Given the description of an element on the screen output the (x, y) to click on. 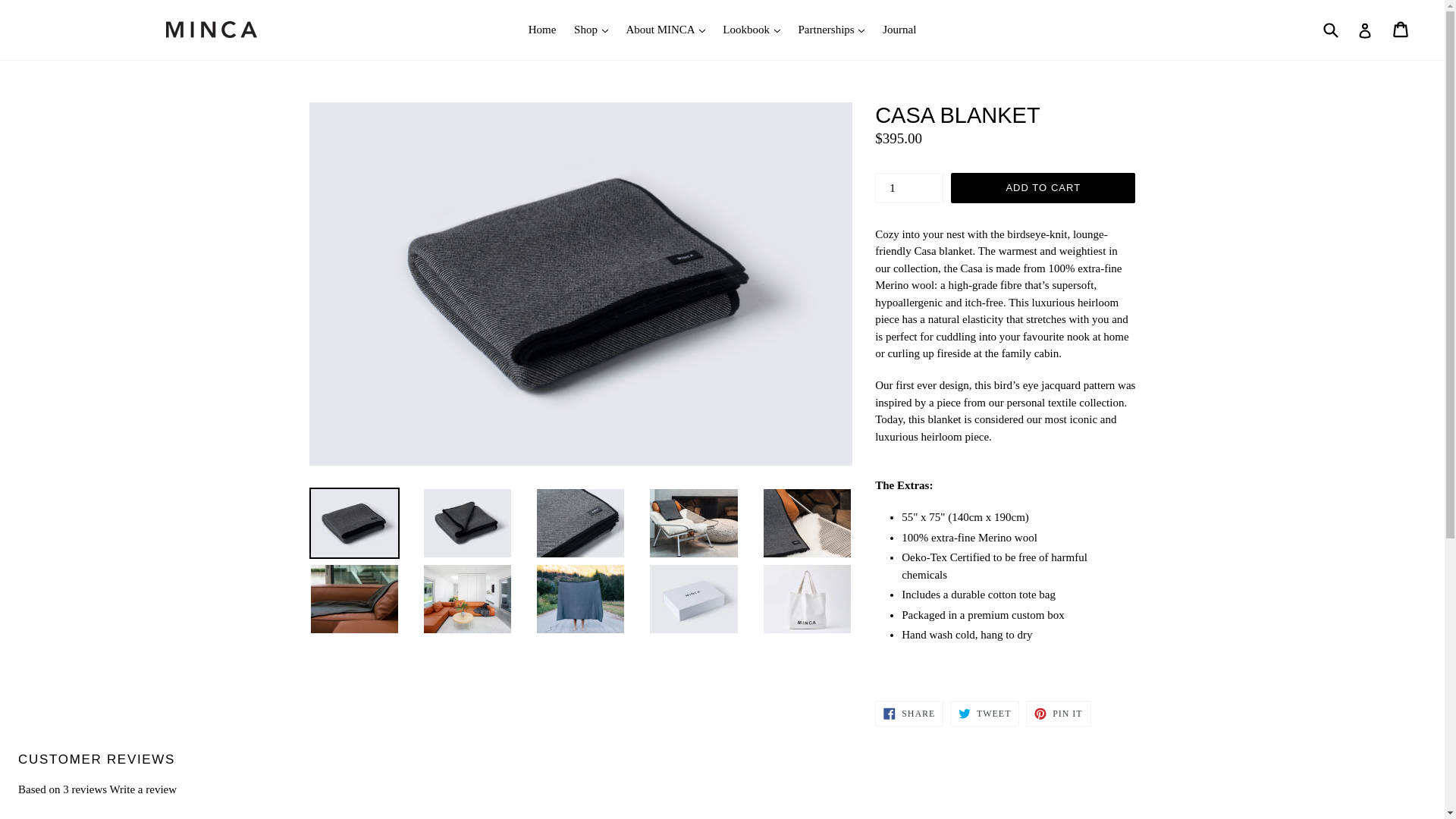
Page 4 (1005, 351)
Pin on Pinterest (1058, 713)
Home (542, 29)
1 (909, 187)
Share on Facebook (909, 713)
Tweet on Twitter (984, 713)
